Given the description of an element on the screen output the (x, y) to click on. 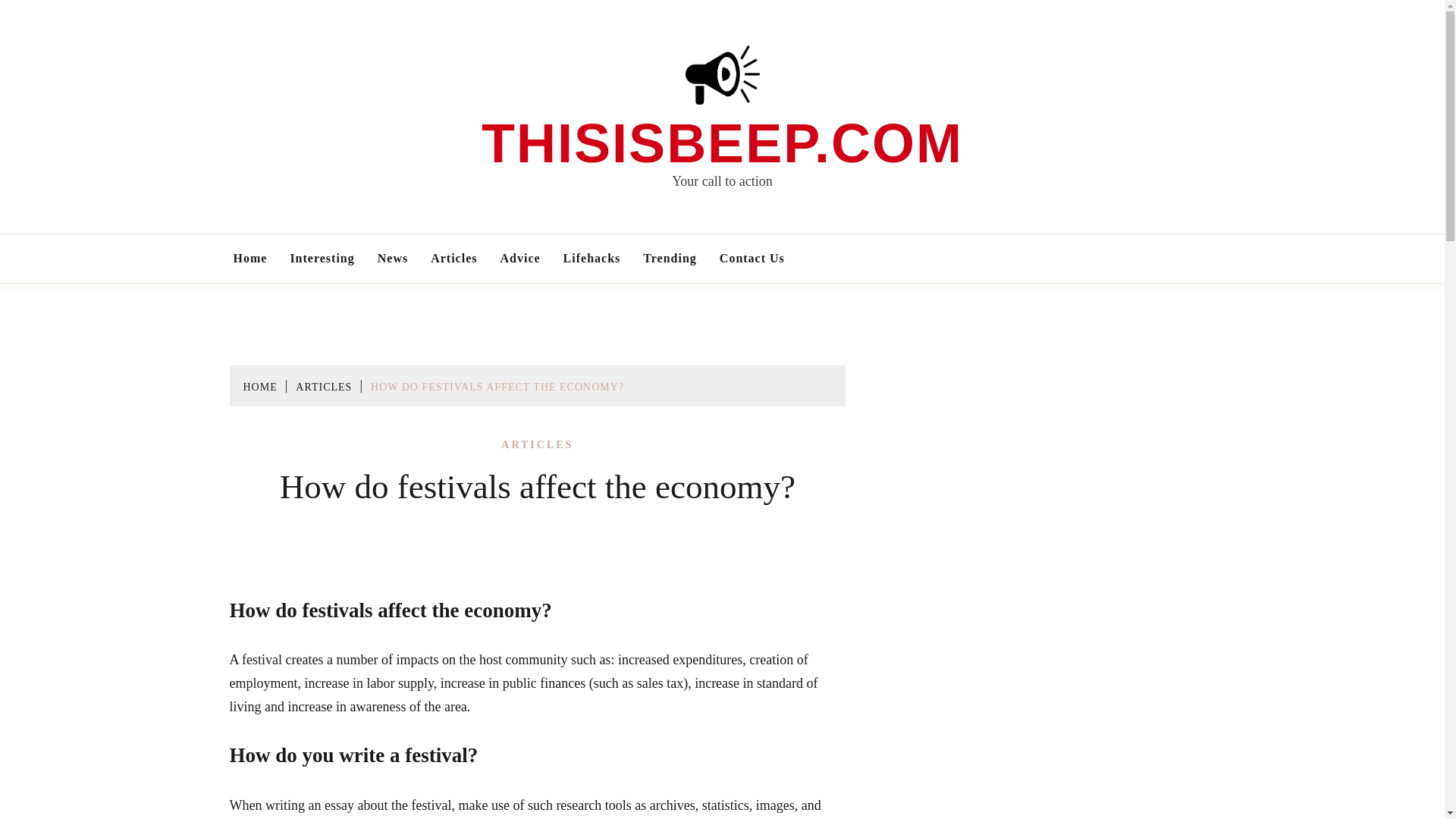
ARTICLES (323, 387)
Lifehacks (591, 258)
Contact Us (752, 258)
Advice (519, 258)
HOW DO FESTIVALS AFFECT THE ECONOMY? (497, 387)
THISISBEEP.COM (721, 143)
HOME (259, 387)
ADMINISTRATOR (585, 562)
Articles (453, 258)
Trending (669, 258)
